Given the description of an element on the screen output the (x, y) to click on. 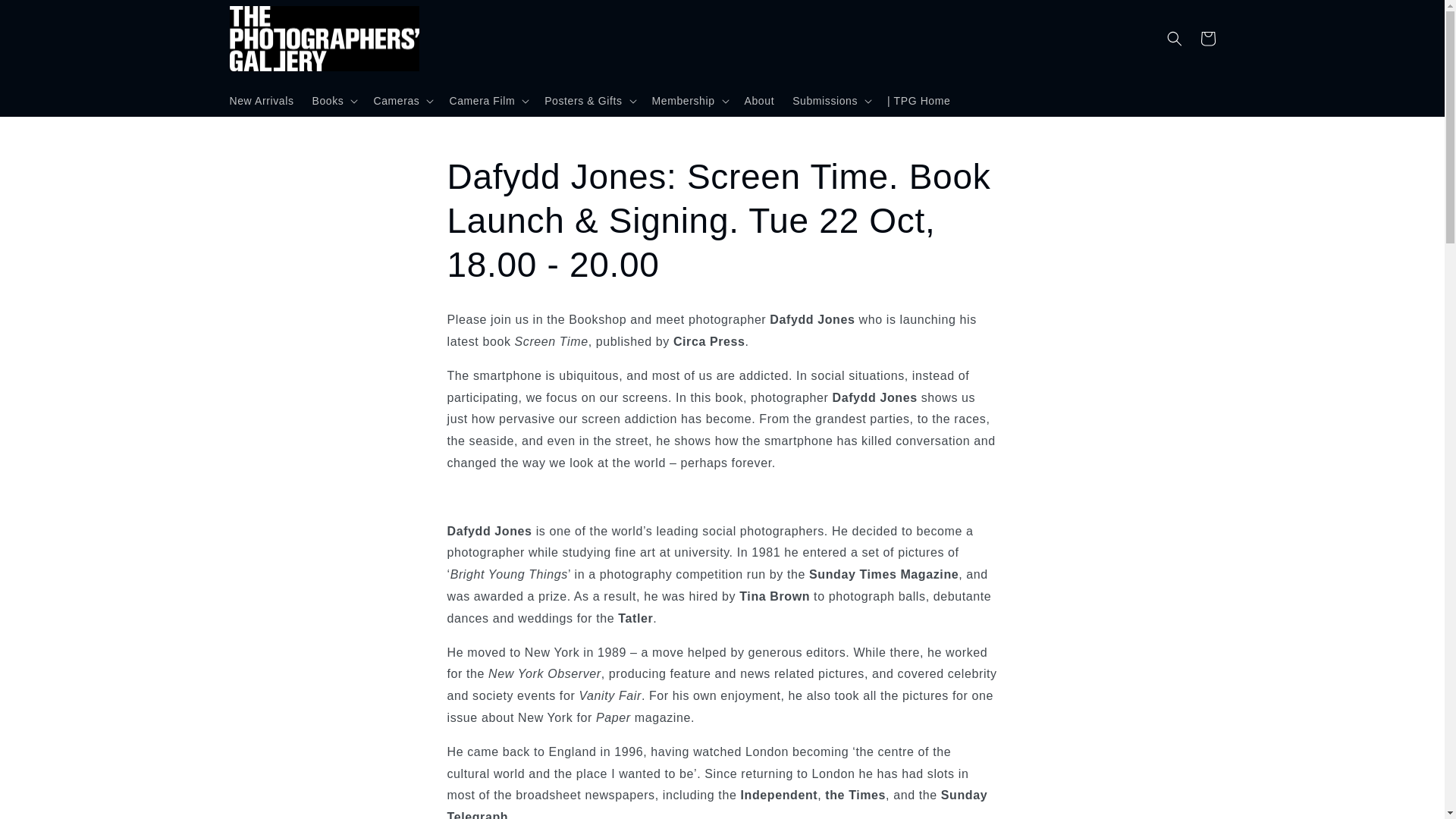
Skip to content (45, 17)
